Given the description of an element on the screen output the (x, y) to click on. 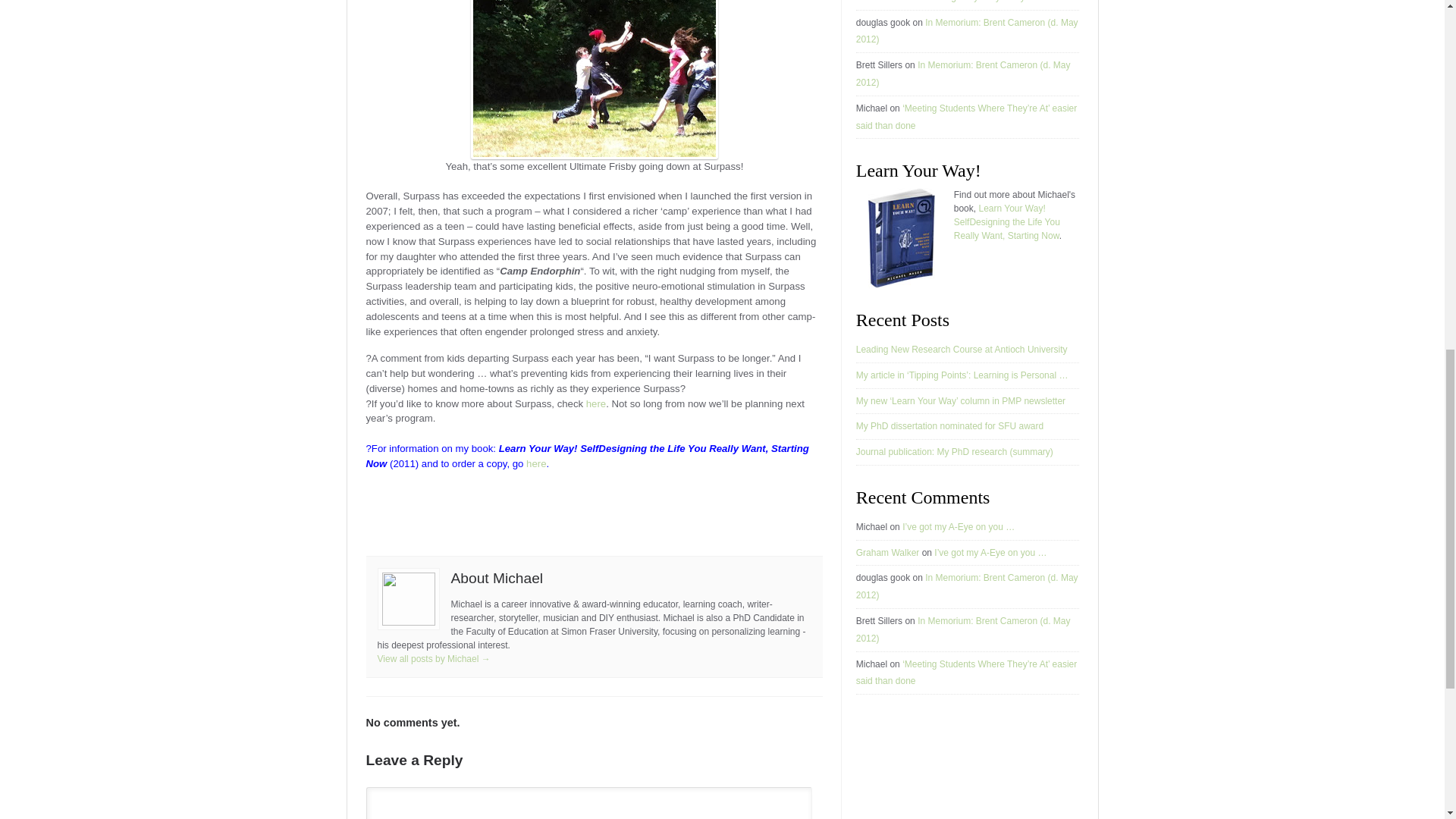
Graham Walker (888, 1)
here (535, 463)
here (595, 403)
